Given the description of an element on the screen output the (x, y) to click on. 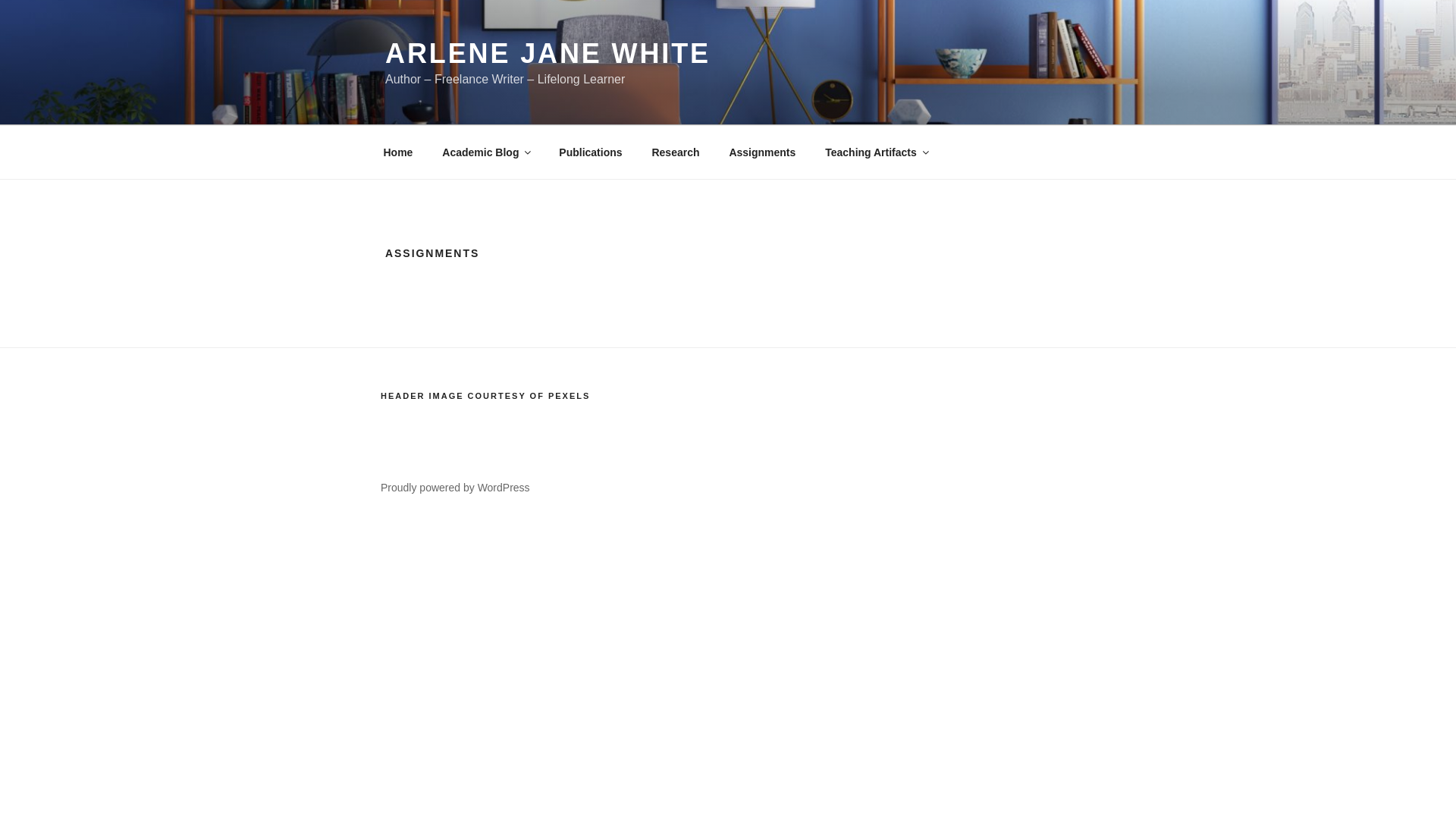
ARLENE JANE WHITE (547, 52)
Research (676, 151)
Home (397, 151)
Assignments (762, 151)
Academic Blog (486, 151)
Proudly powered by WordPress (454, 487)
Teaching Artifacts (876, 151)
Publications (590, 151)
